Given the description of an element on the screen output the (x, y) to click on. 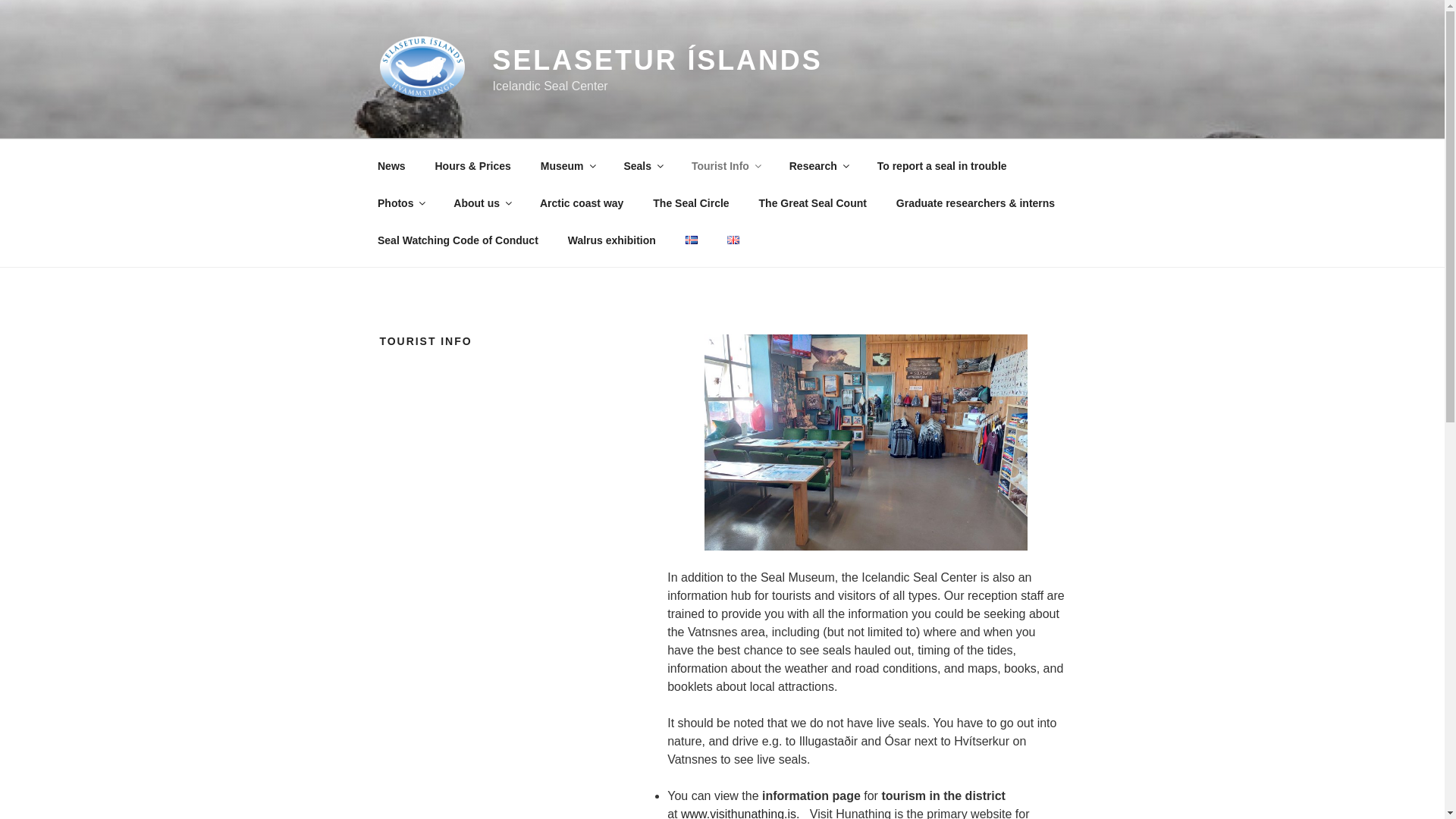
Tourist Info (725, 165)
Seals (642, 165)
News (391, 165)
Museum (567, 165)
Research (818, 165)
To report a seal in trouble (941, 165)
Photos (400, 203)
